Given the description of an element on the screen output the (x, y) to click on. 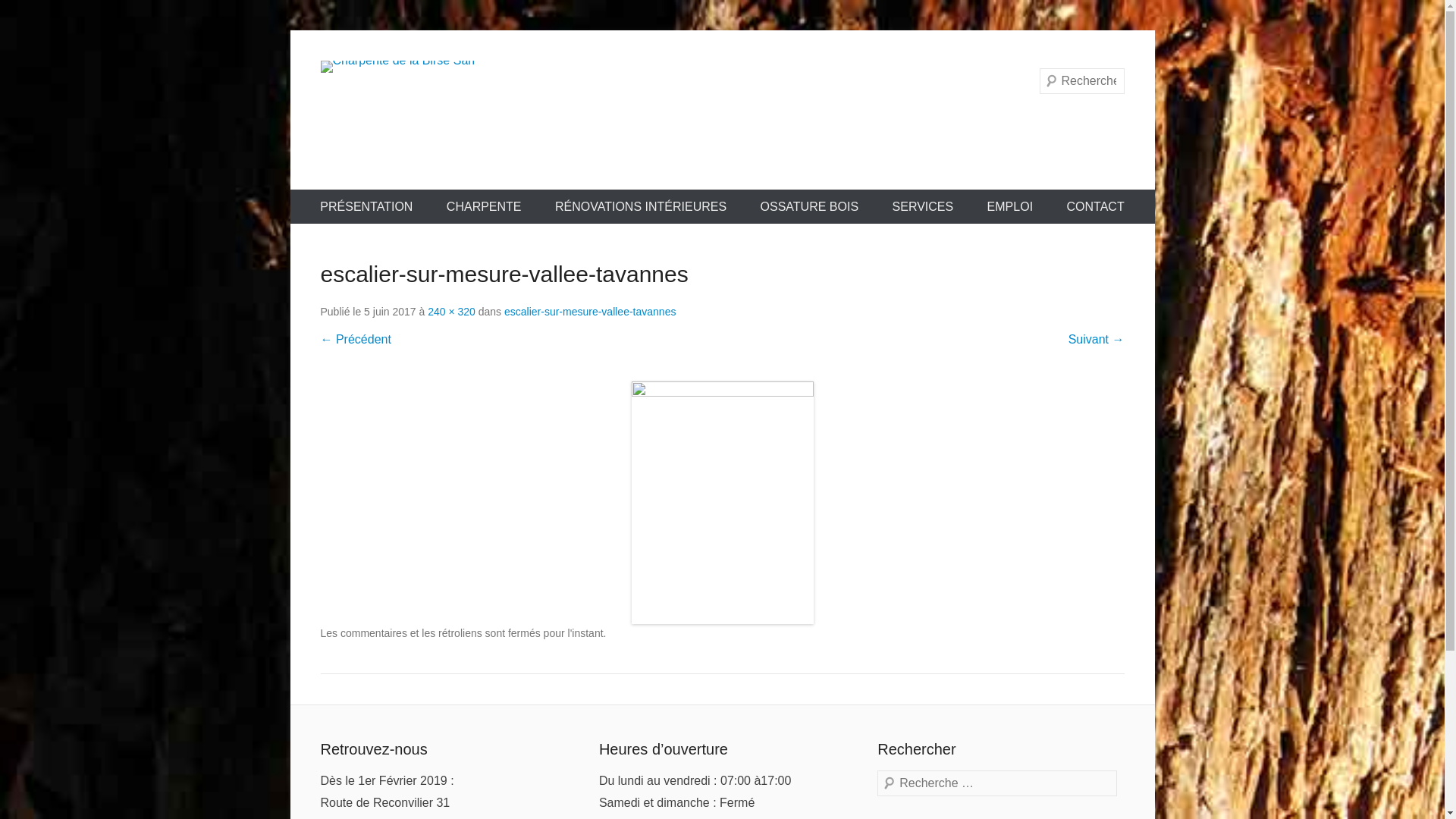
Recherche Element type: text (41, 15)
OSSATURE BOIS Element type: text (809, 206)
Menu principal Element type: text (289, 188)
EMPLOI Element type: text (1010, 206)
CHARPENTE Element type: text (483, 206)
escalier-sur-mesure-vallee-tavannes Element type: hover (721, 502)
Aller au contenu Element type: text (289, 29)
SERVICES Element type: text (923, 206)
CONTACT Element type: text (1095, 206)
escalier-sur-mesure-vallee-tavannes Element type: text (589, 311)
